Given the description of an element on the screen output the (x, y) to click on. 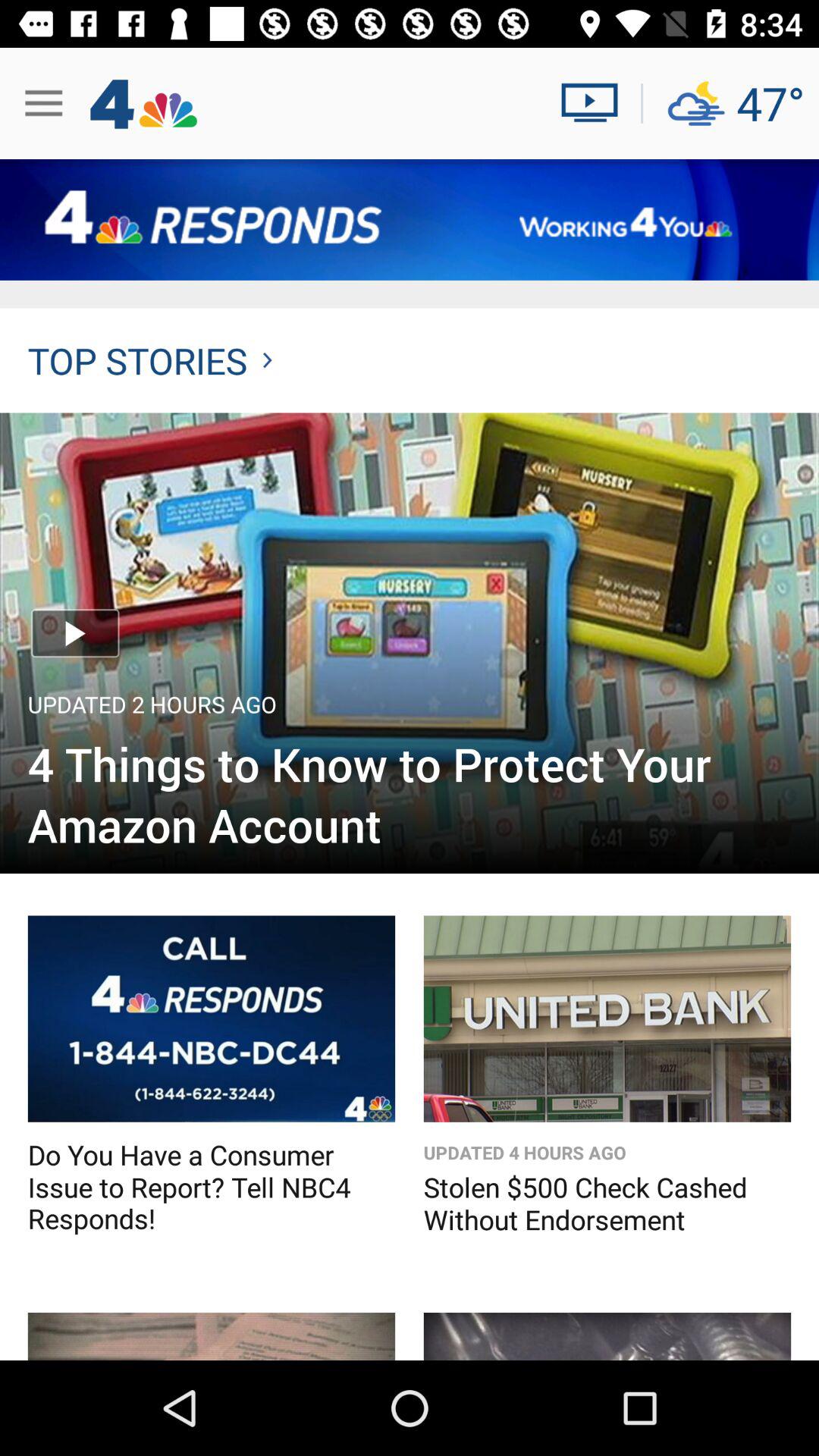
click to new stories (211, 1336)
